Given the description of an element on the screen output the (x, y) to click on. 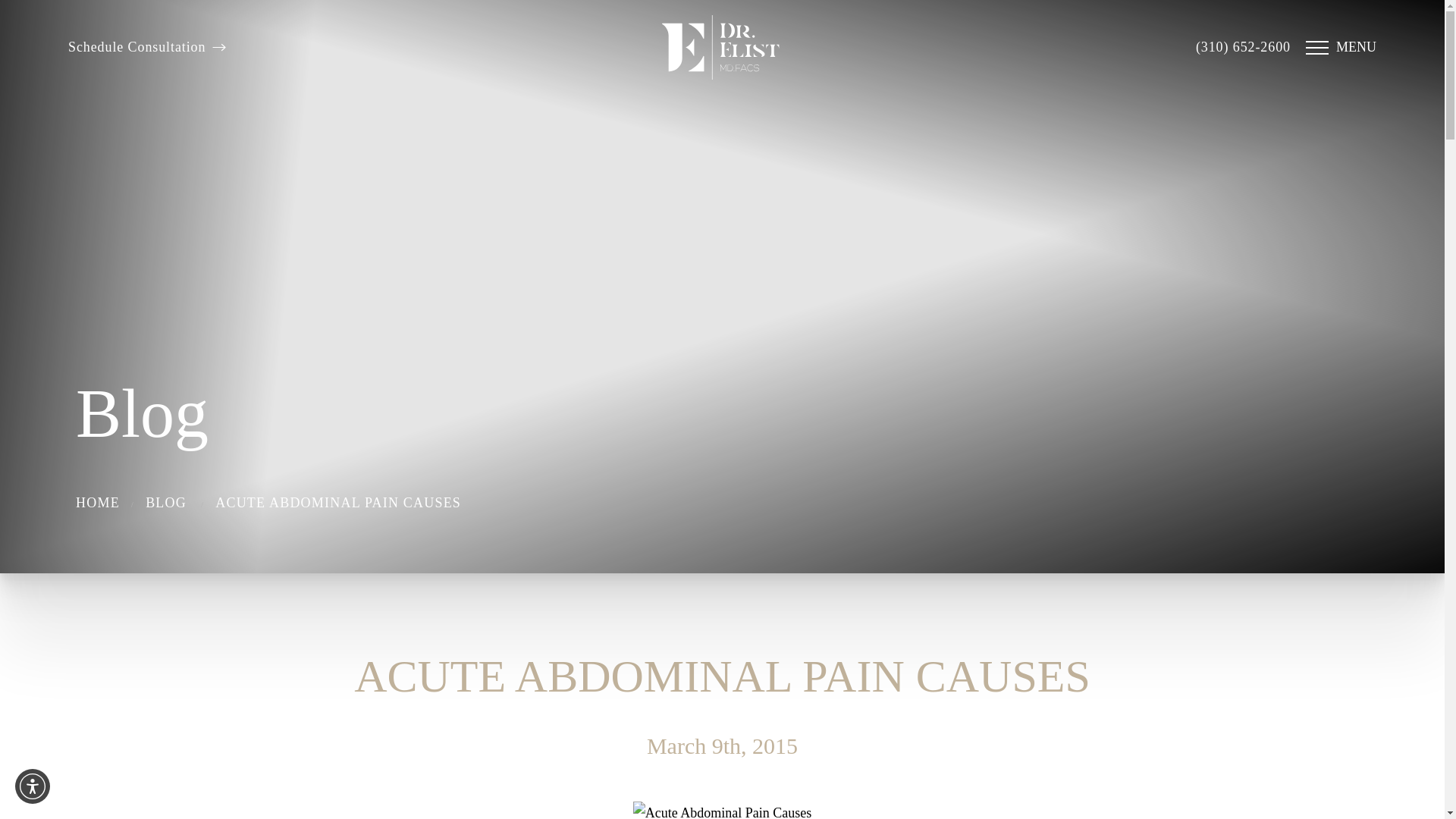
BLOG (165, 502)
Schedule Consultation (146, 46)
ACUTE ABDOMINAL PAIN CAUSES (338, 502)
HOME (97, 502)
